Given the description of an element on the screen output the (x, y) to click on. 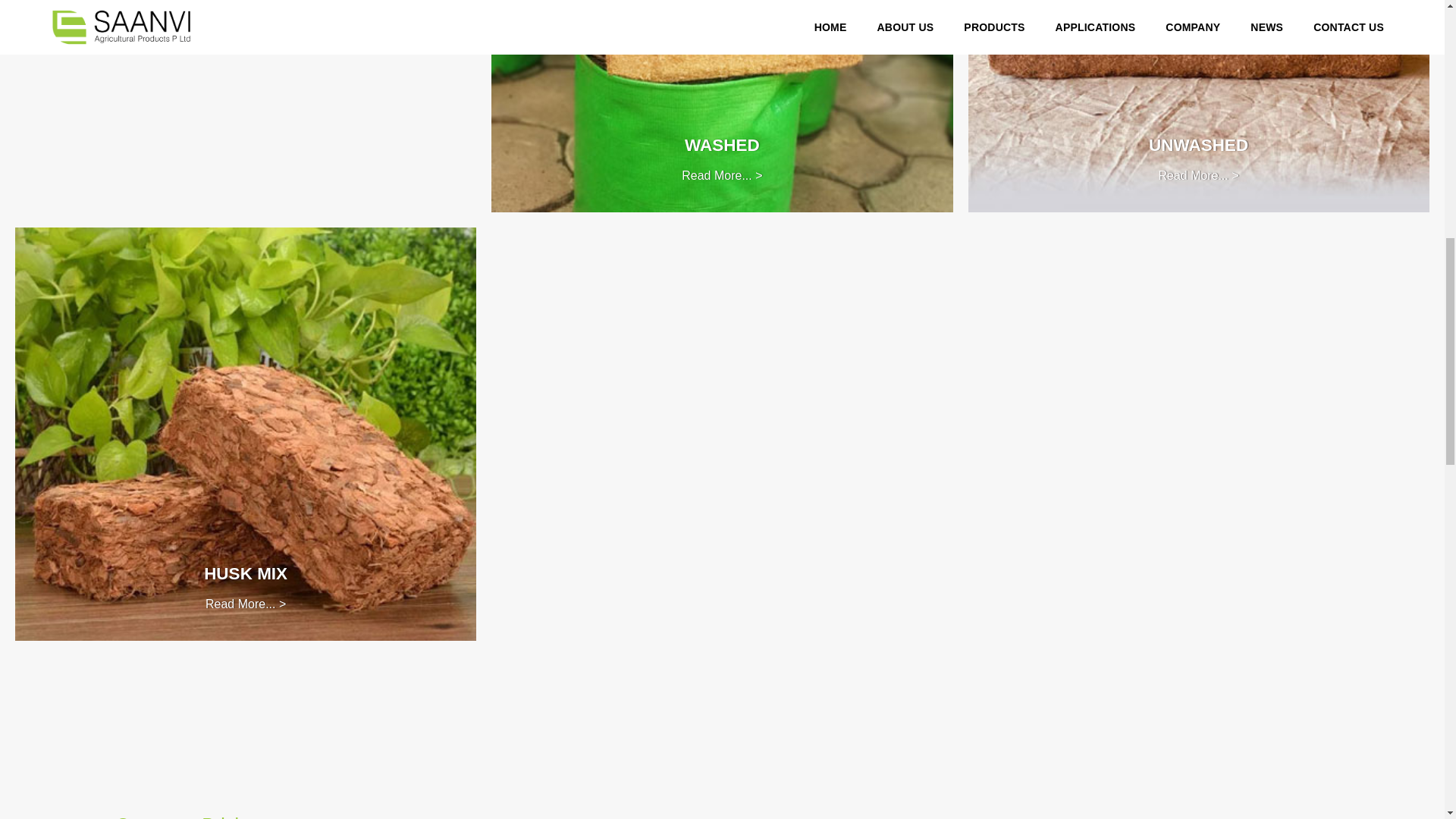
WASHED (722, 144)
HUSK MIX (244, 573)
UNWASHED (1197, 144)
